Given the description of an element on the screen output the (x, y) to click on. 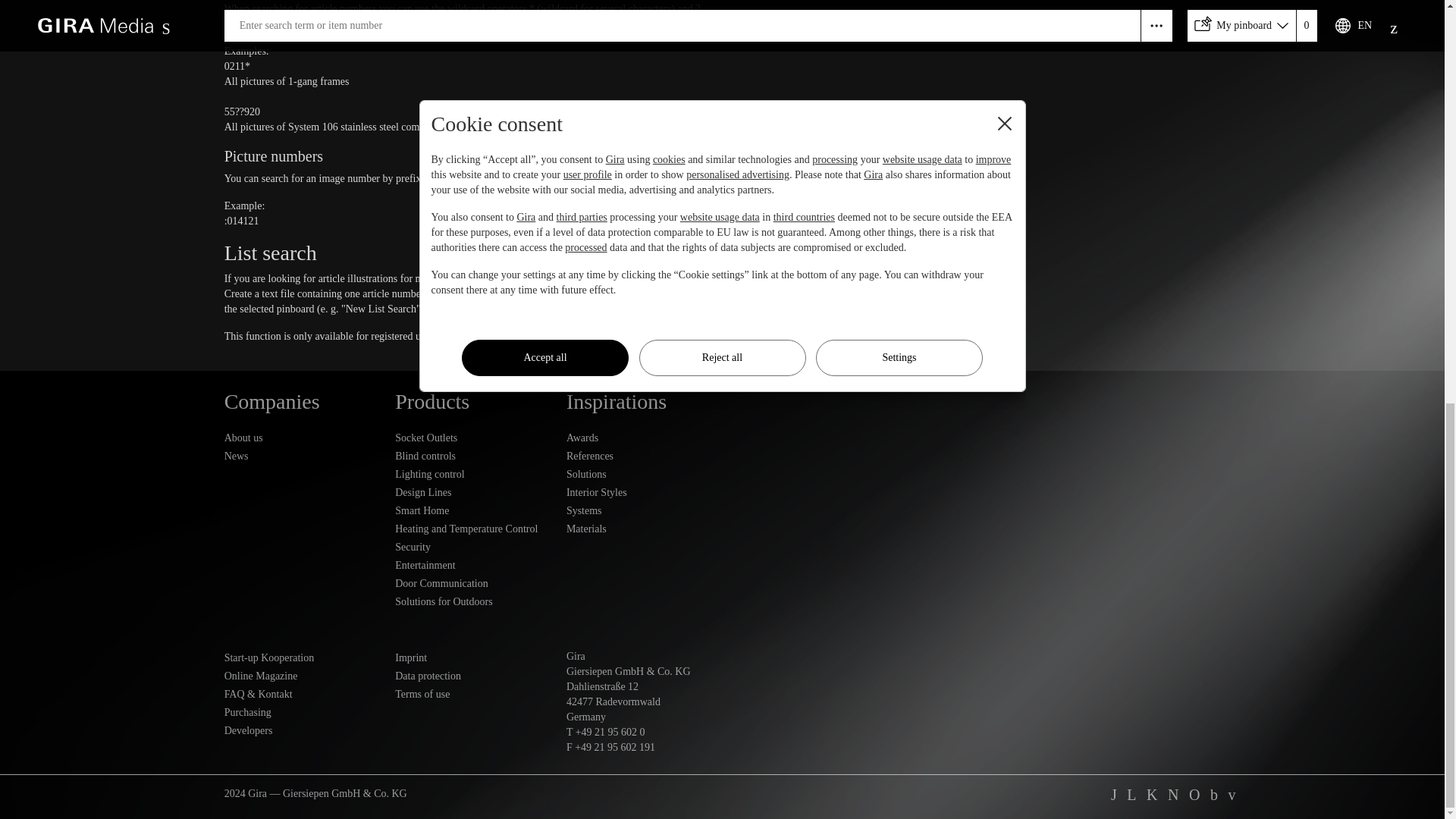
Developers (302, 730)
Data protection (472, 676)
Socket Outlets (472, 438)
list search (652, 278)
Purchasing (302, 712)
Imprint (472, 658)
Solutions for Outdoors (472, 601)
Door Communication (472, 583)
Materials (644, 529)
Systems (644, 511)
Terms of use (472, 694)
Security (472, 547)
Start-up Kooperation (302, 658)
Awards (644, 438)
References (644, 456)
